Given the description of an element on the screen output the (x, y) to click on. 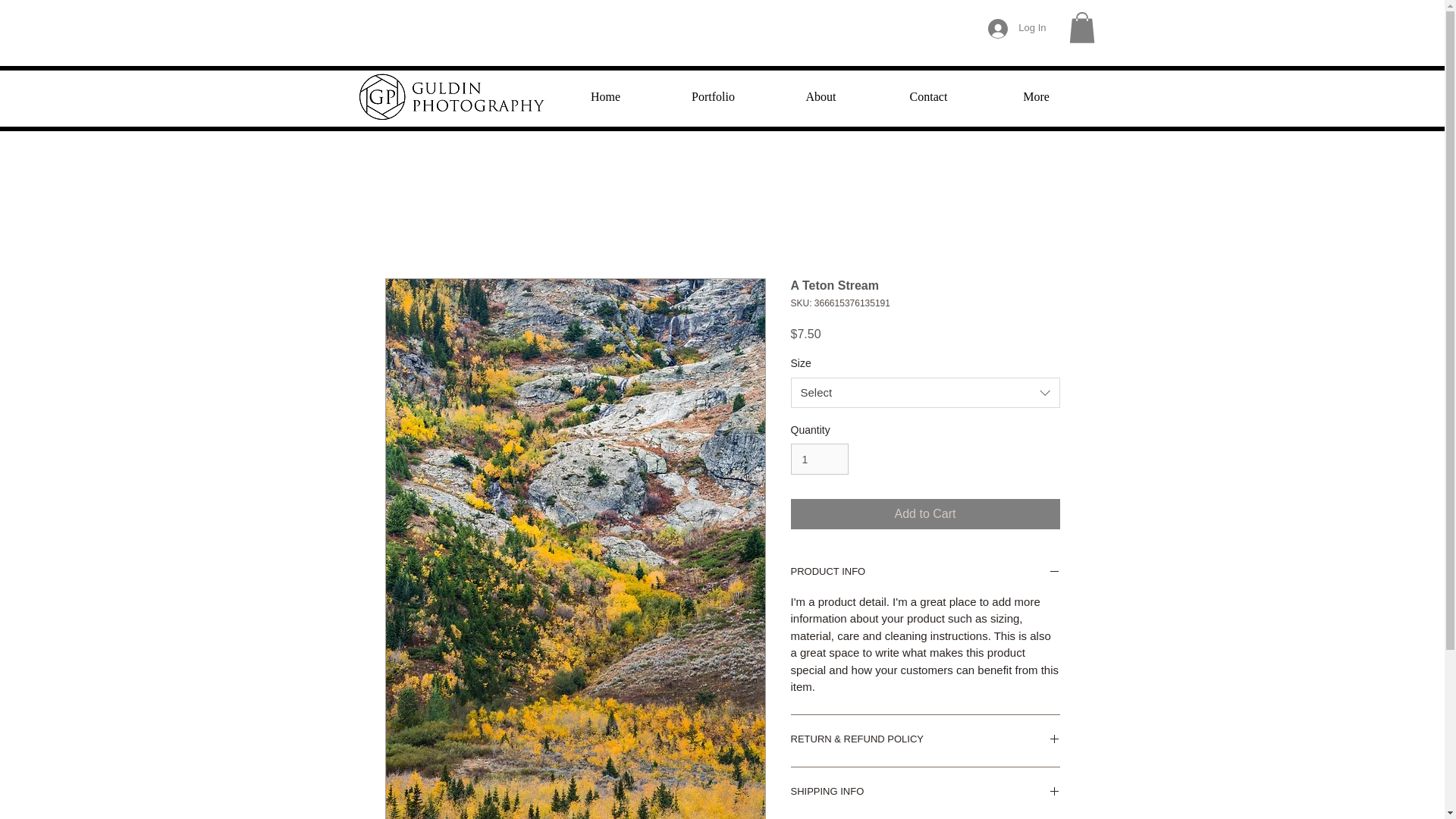
SHIPPING INFO (924, 792)
Portfolio (713, 96)
1 (818, 459)
About (821, 96)
Select (924, 392)
Add to Cart (924, 513)
Contact (928, 96)
Log In (1016, 27)
PRODUCT INFO (924, 572)
Home (605, 96)
